Given the description of an element on the screen output the (x, y) to click on. 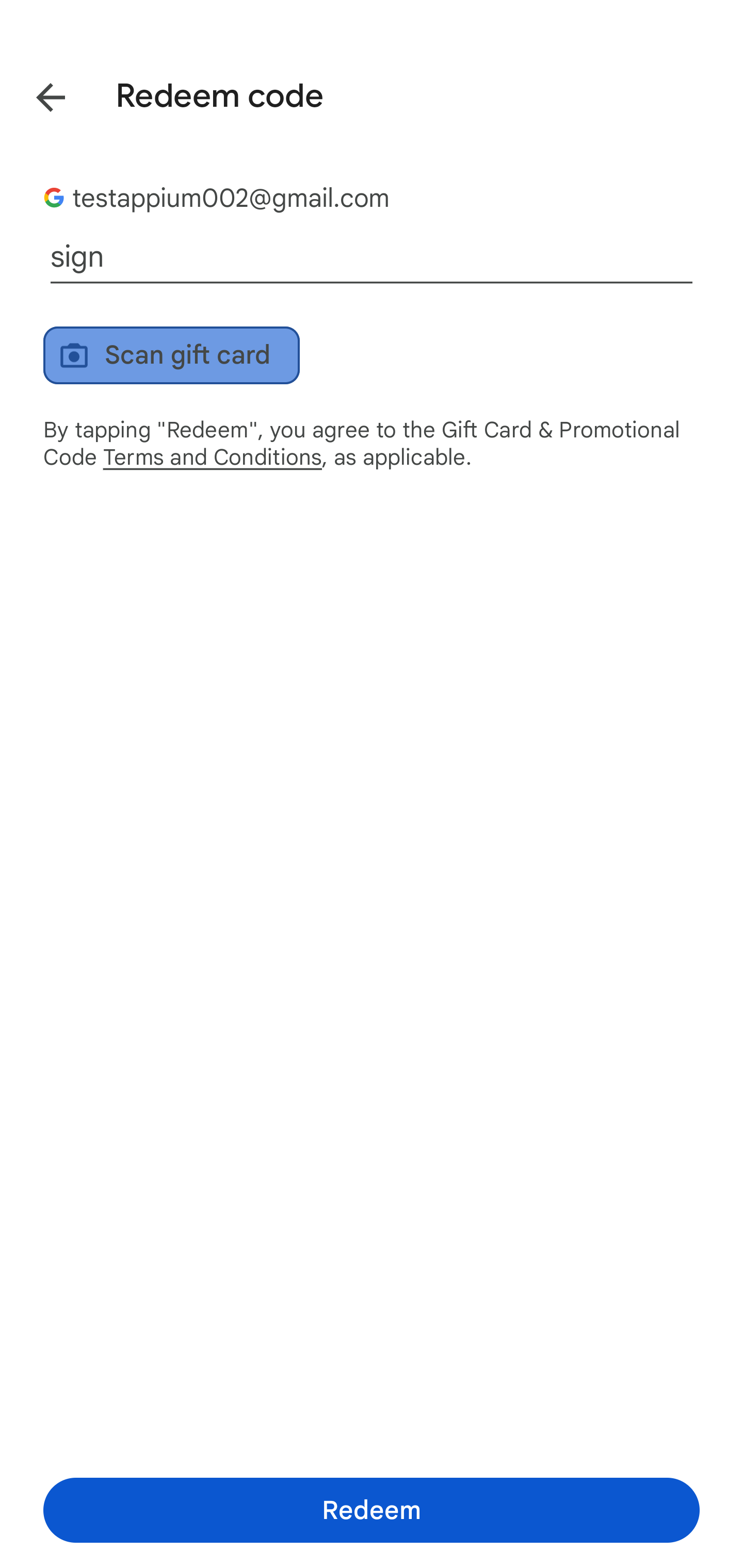
Back (36, 94)
sign (371, 256)
Scan gift card (171, 355)
Redeem (371, 1509)
